Given the description of an element on the screen output the (x, y) to click on. 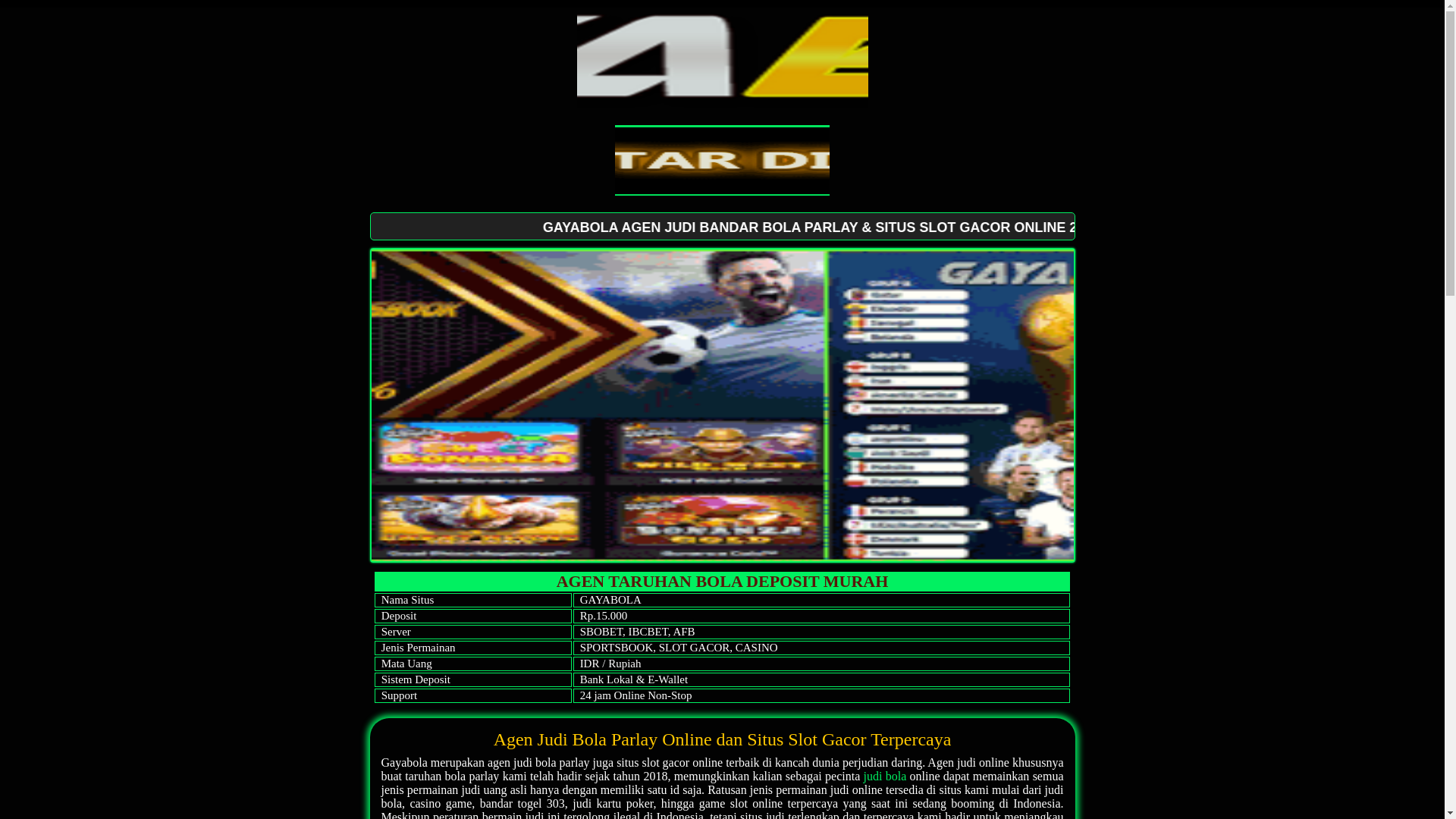
judi bola Element type: text (884, 775)
situs judi bola Element type: hover (722, 405)
